Given the description of an element on the screen output the (x, y) to click on. 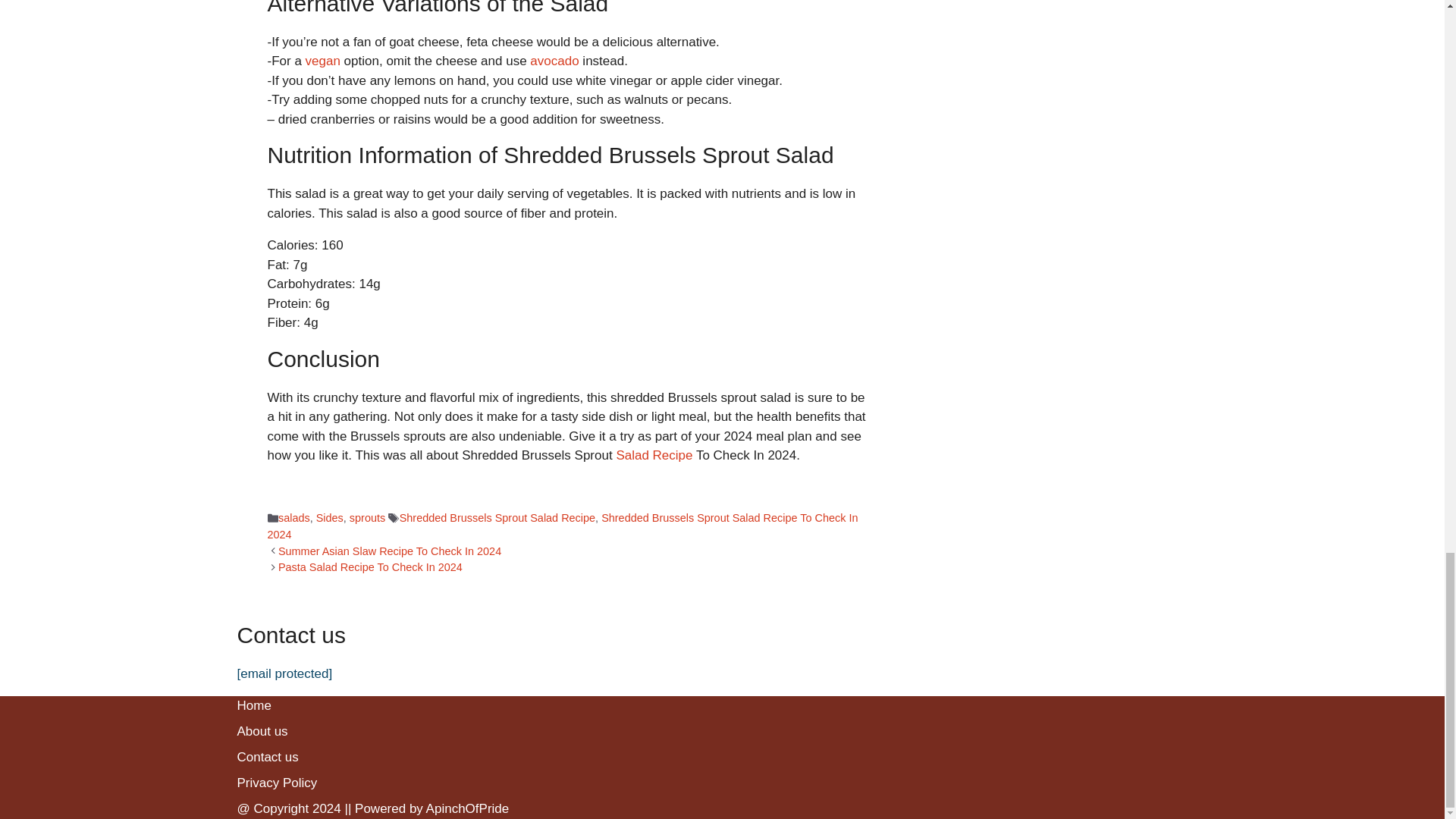
Home (252, 705)
vegan (322, 60)
Pasta Salad Recipe To Check In 2024 (370, 567)
avocado (553, 60)
Shredded Brussels Sprout Salad Recipe To Check In 2024 (561, 525)
Shredded Brussels Sprout Salad Recipe (496, 517)
Salad Recipe (654, 454)
Summer Asian Slaw Recipe To Check In 2024 (389, 551)
Sides (329, 517)
salads (294, 517)
sprouts (367, 517)
